Given the description of an element on the screen output the (x, y) to click on. 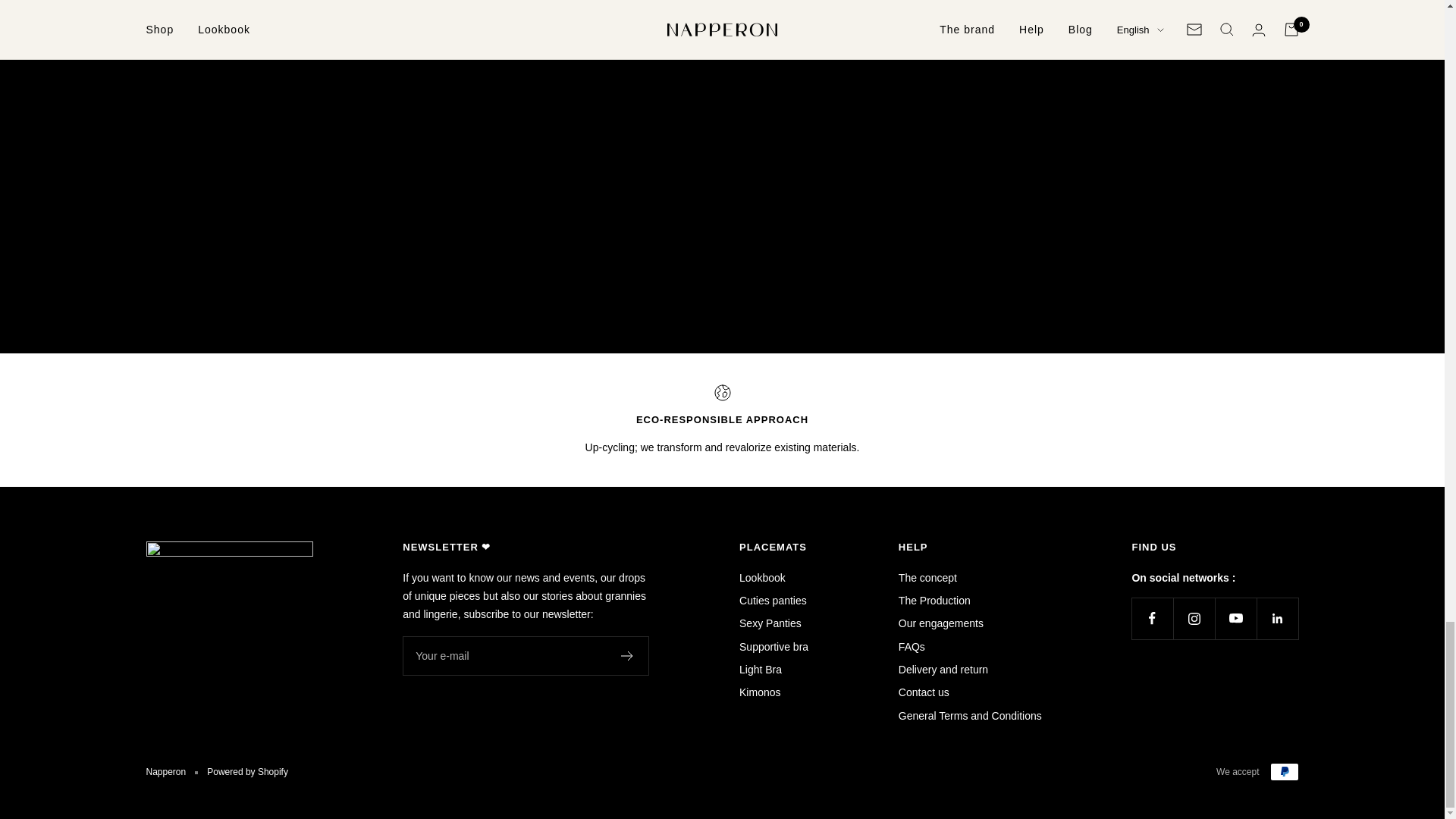
Register (627, 655)
